Given the description of an element on the screen output the (x, y) to click on. 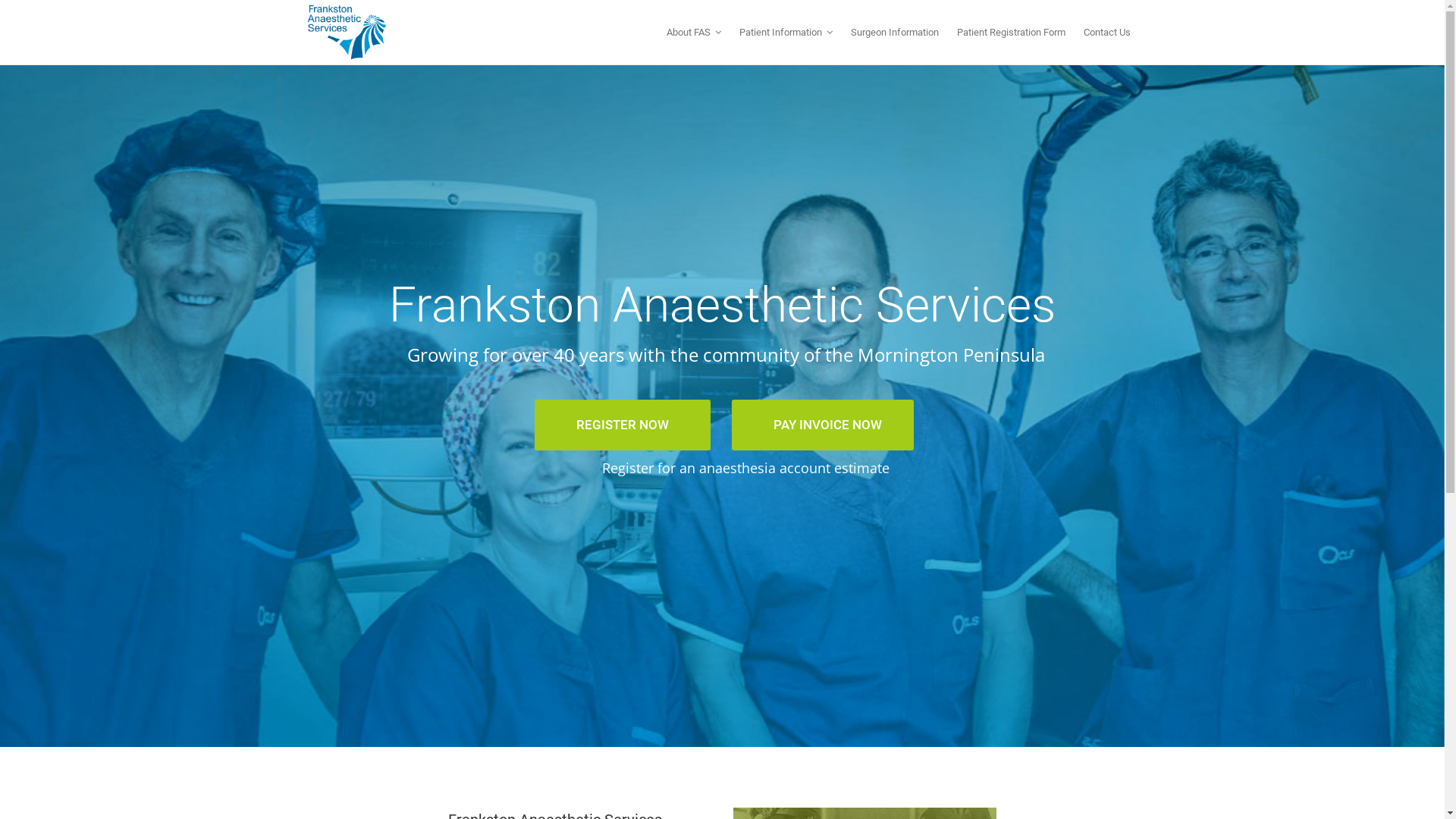
Pay Invoice Now Element type: text (999, 668)
Privacy Element type: text (891, 795)
Pay Invoice Now Element type: text (999, 668)
Powered by 20-80 Solutions Element type: text (809, 795)
REGISTER NOW Element type: text (622, 424)
Surgeon Information Element type: text (894, 32)
About FAS Element type: text (692, 32)
office@fasonline.com.au Element type: text (684, 709)
(03) 9770 1388 Element type: text (666, 692)
23-25 Hastings Rd
Frankston, Vic, 3199 Element type: text (645, 659)
Patient Registration Form Element type: text (1010, 32)
Contact Us Element type: text (1106, 32)
Patient Information Element type: text (784, 32)
